Given the description of an element on the screen output the (x, y) to click on. 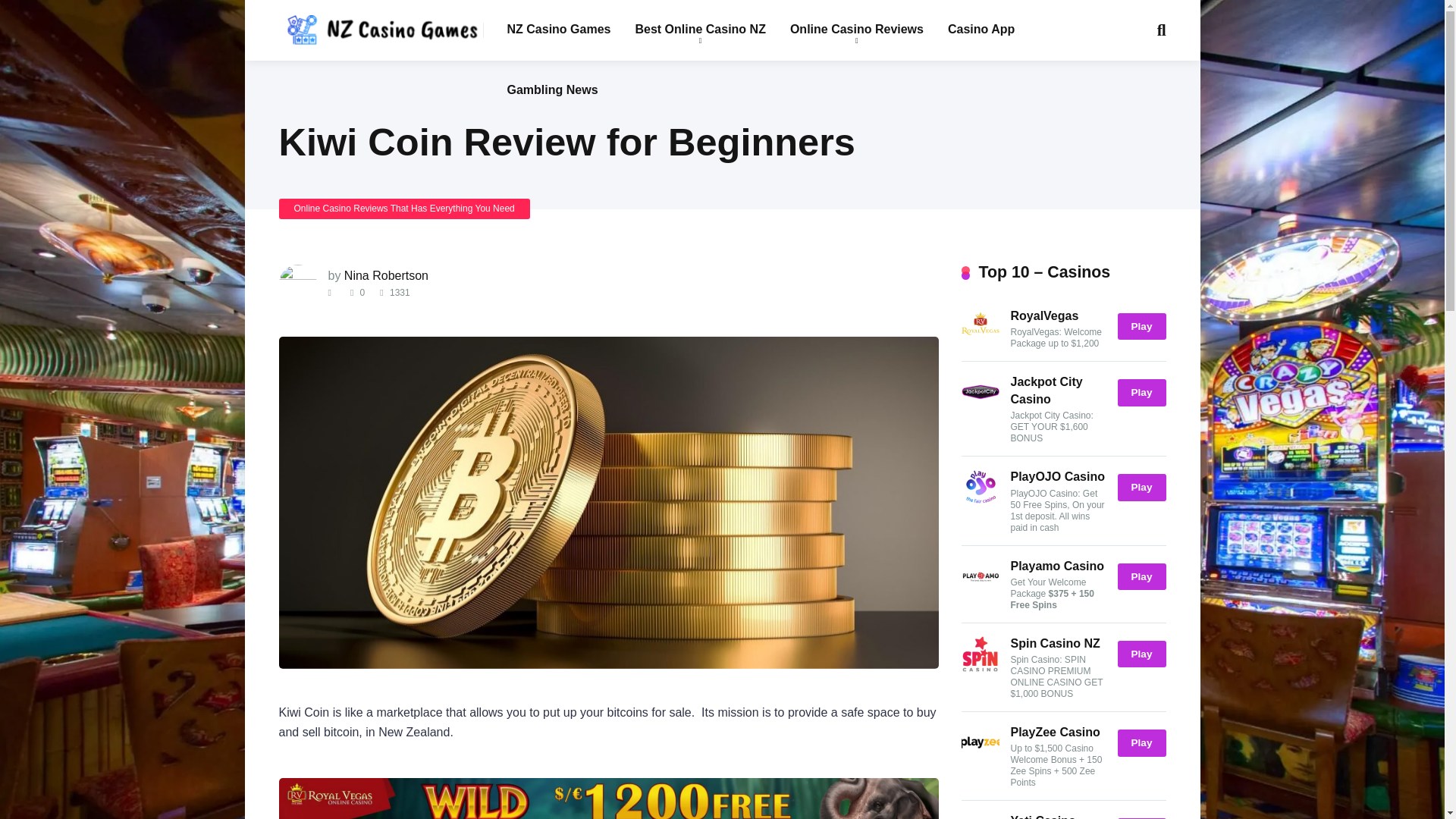
RoyalVegas (979, 340)
Nina Robertson (385, 275)
NZ Casino Games (559, 30)
Online Casino Reviews That Has Everything You Need (404, 209)
Casino App (981, 30)
RoyalVegas (1044, 315)
NZ Casino Games (381, 24)
Online Casino Reviews (856, 30)
Posts by Nina Robertson (385, 275)
Best Online Casino NZ (700, 30)
Gambling News (552, 90)
